Given the description of an element on the screen output the (x, y) to click on. 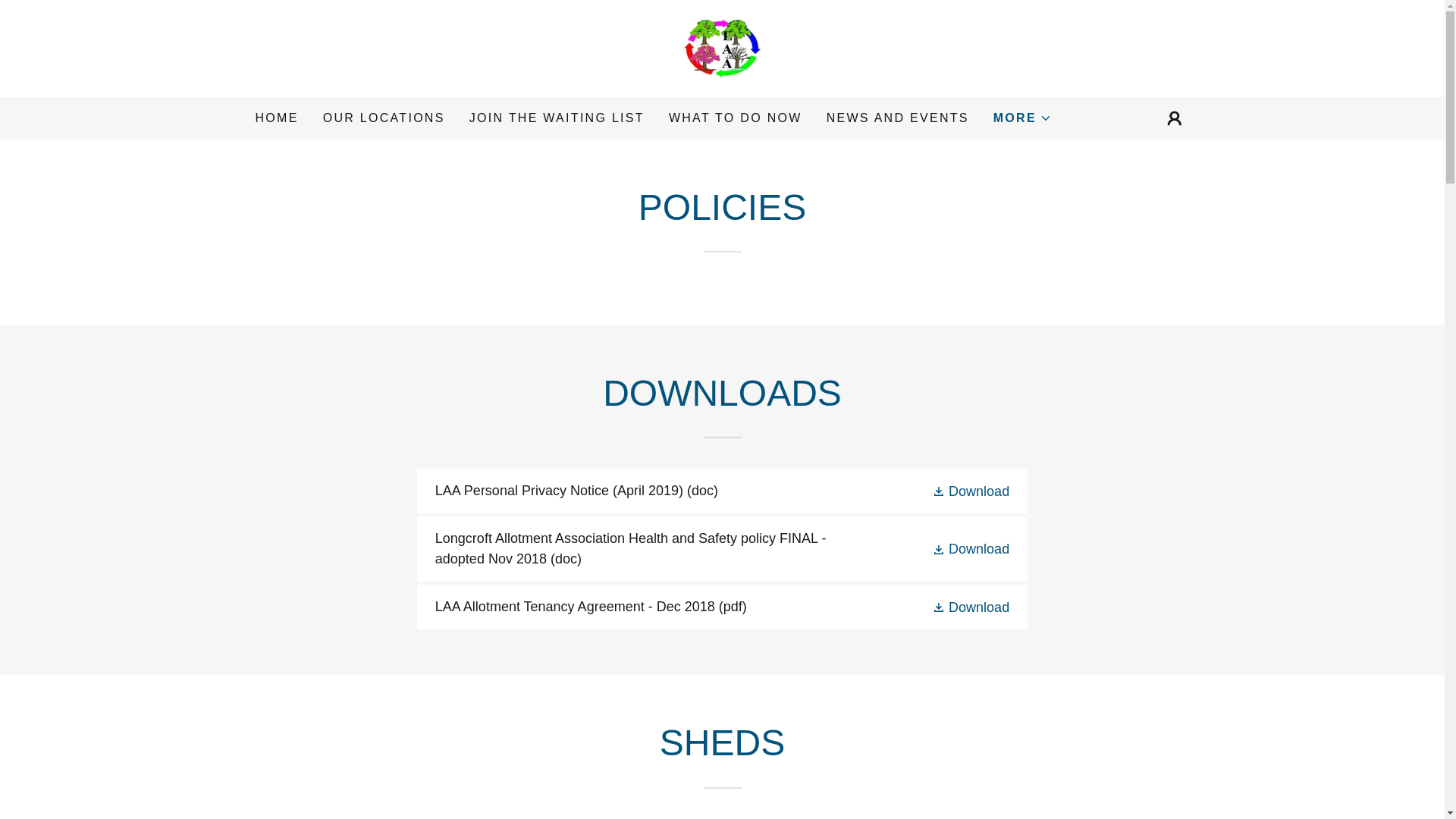
MORE (1021, 117)
HOME (276, 117)
WHAT TO DO NOW (734, 117)
NEWS AND EVENTS (898, 117)
JOIN THE WAITING LIST (556, 117)
OUR LOCATIONS (383, 117)
LongcroftAllotmentAssociation (721, 47)
